Given the description of an element on the screen output the (x, y) to click on. 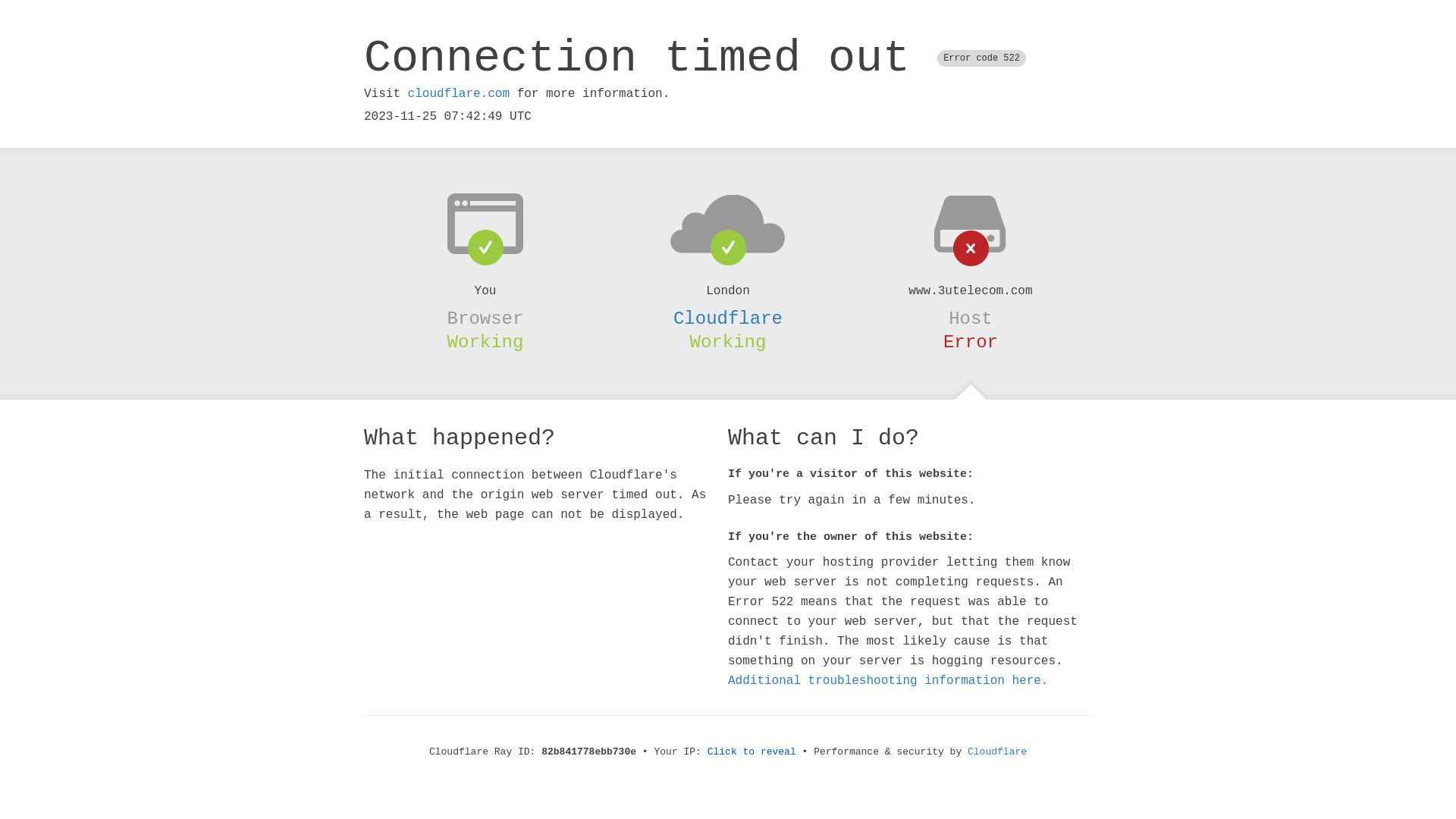
cloudflare.com Element type: text (458, 93)
Cloudflare Element type: text (727, 318)
Click to reveal Element type: text (751, 751)
Cloudflare Element type: text (996, 751)
Additional troubleshooting information here. Element type: text (888, 680)
